Given the description of an element on the screen output the (x, y) to click on. 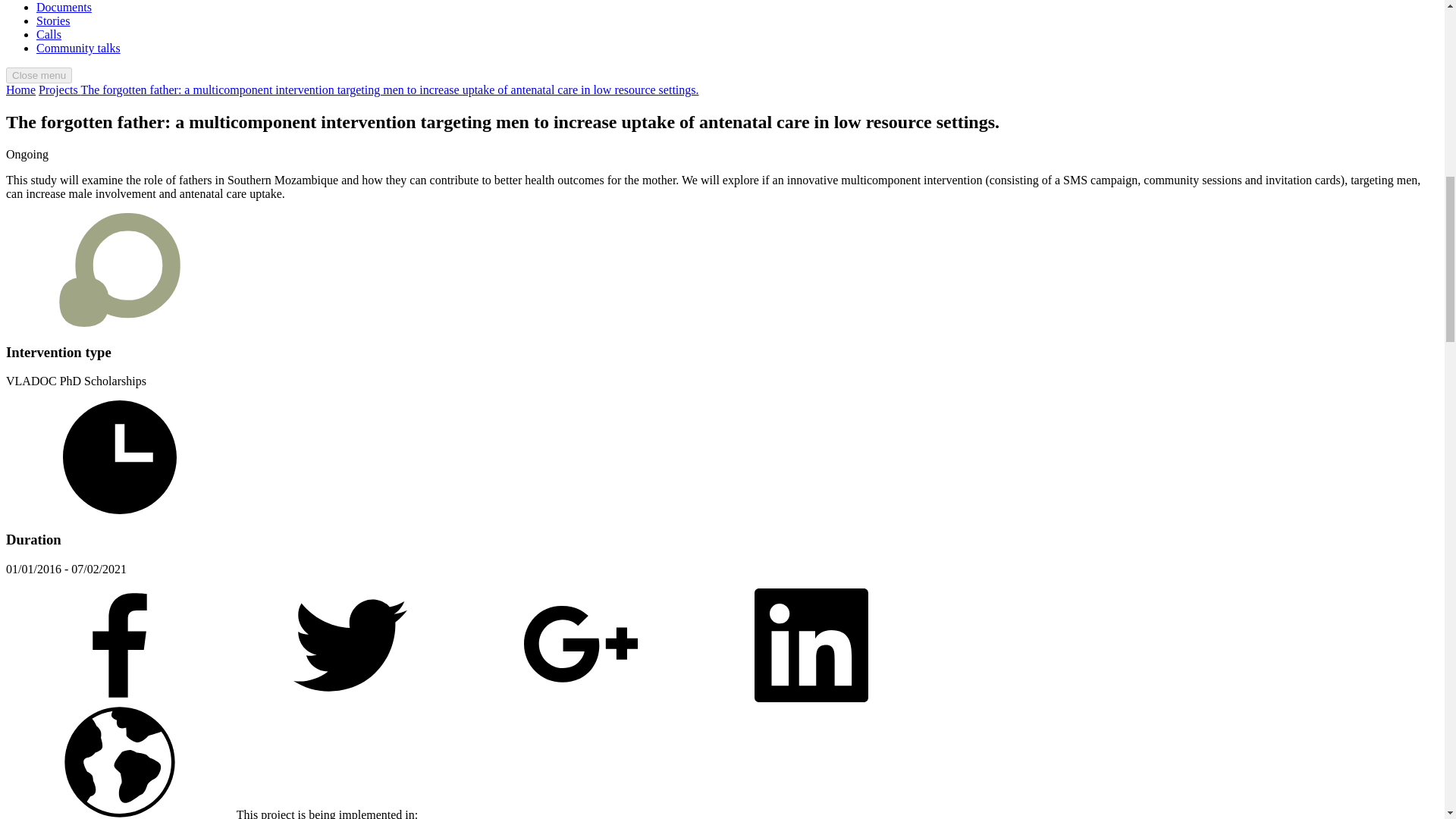
Documents (63, 6)
Close menu (38, 75)
Stories (52, 20)
Projects (59, 89)
Community talks (78, 47)
Calls (48, 33)
Home (19, 89)
